Given the description of an element on the screen output the (x, y) to click on. 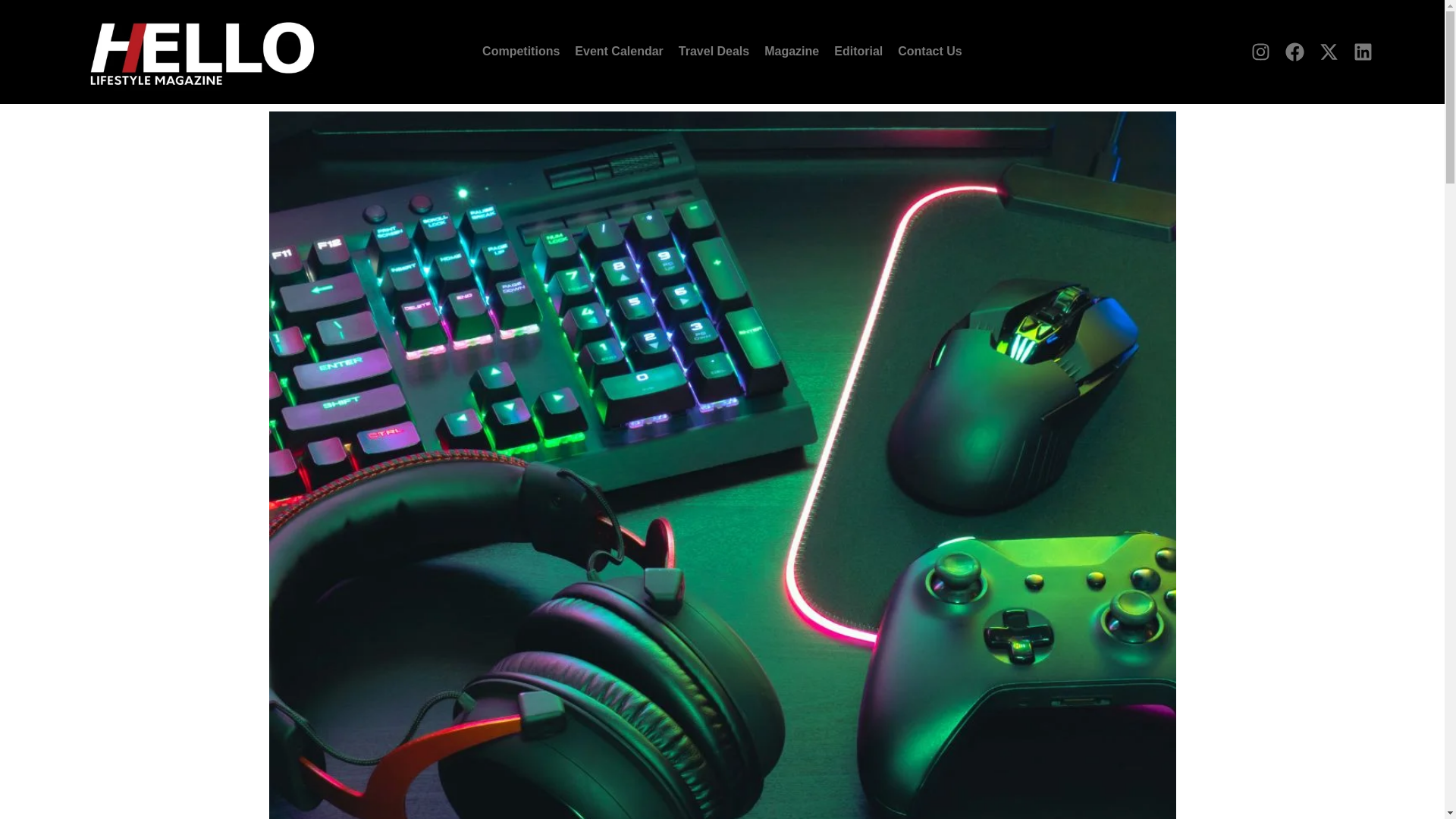
Travel Deals (713, 51)
Editorial (858, 51)
Competitions (520, 51)
Magazine (791, 51)
Event Calendar (618, 51)
Contact Us (929, 51)
